Given the description of an element on the screen output the (x, y) to click on. 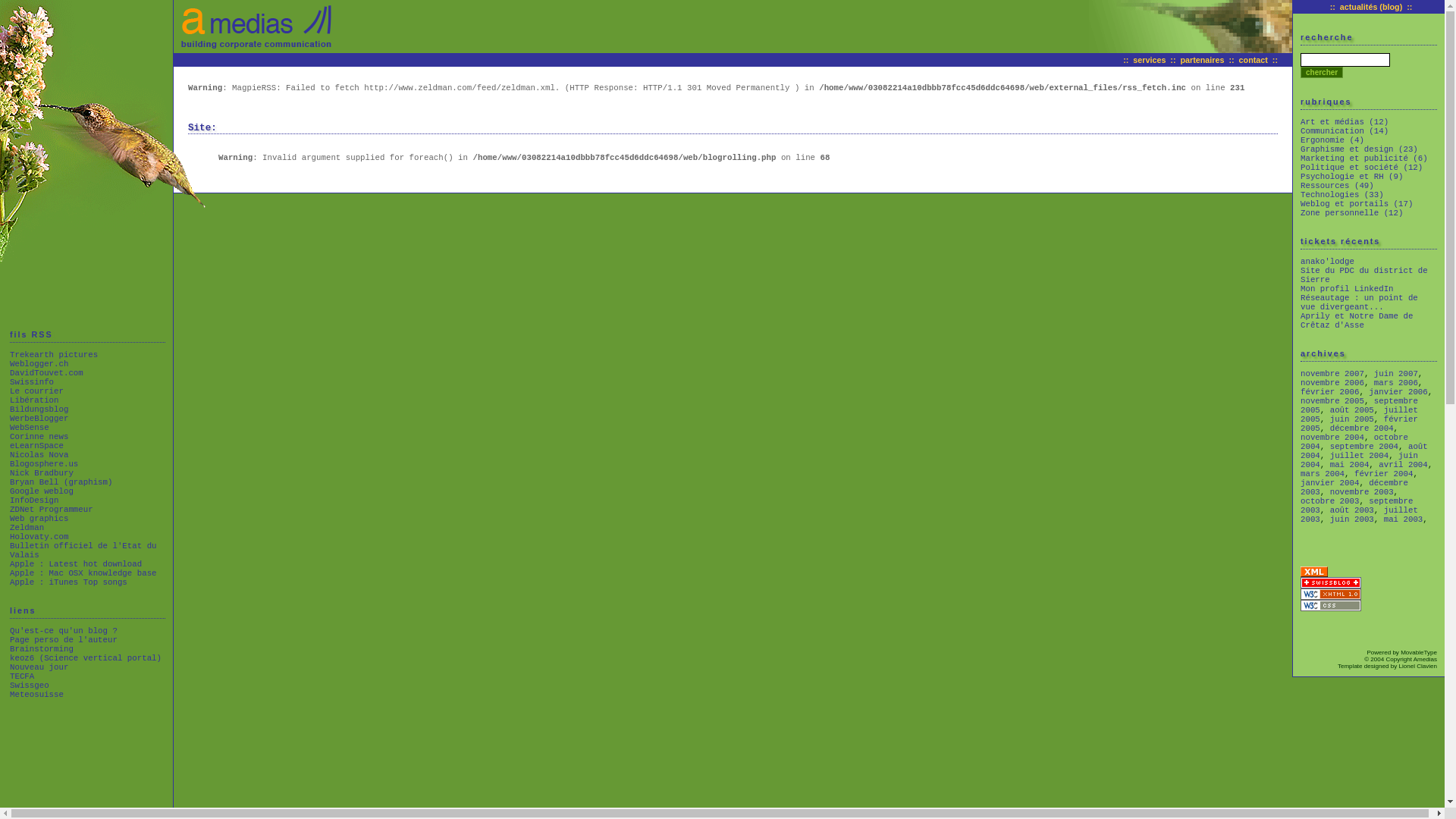
Page perso de l'auteur Element type: text (63, 639)
Nicolas Nova Element type: text (38, 454)
avril 2004 Element type: text (1402, 464)
TECFA Element type: text (21, 675)
mars 2004 Element type: text (1322, 473)
Corinne news Element type: text (38, 436)
Bulletin officiel de l'Etat du Valais Element type: text (82, 550)
chercher Element type: text (1321, 72)
Qu'est-ce qu'un blog ? Element type: text (63, 630)
Ergonomie (4) Element type: text (1332, 139)
juin 2004 Element type: text (1359, 460)
juin 2007 Element type: text (1396, 373)
Graphisme et design (23) Element type: text (1359, 148)
mai 2004 Element type: text (1349, 464)
eLearnSpace Element type: text (36, 445)
Weblog et portails (17) Element type: text (1356, 203)
juin 2005 Element type: text (1352, 418)
novembre 2003 Element type: text (1361, 491)
Nouveau jour Element type: text (38, 666)
ZDNet Programmeur Element type: text (51, 509)
Bildungsblog Element type: text (38, 409)
services Element type: text (1148, 59)
janvier 2006 Element type: text (1397, 391)
Technologies (33) Element type: text (1341, 194)
juillet 2004 Element type: text (1359, 455)
novembre 2006 Element type: text (1332, 382)
keoz6 (Science vertical portal) Element type: text (85, 657)
InfoDesign Element type: text (34, 500)
Mon profil LinkedIn Element type: text (1346, 288)
Zone personnelle (12) Element type: text (1351, 212)
janvier 2004 Element type: text (1329, 482)
octobre 2003 Element type: text (1329, 500)
septembre 2004 Element type: text (1364, 446)
Blogosphere.us Element type: text (43, 463)
contact Element type: text (1253, 59)
mars 2006 Element type: text (1396, 382)
Apple : iTunes Top songs Element type: text (68, 581)
juillet 2005 Element type: text (1359, 414)
Zeldman Element type: text (26, 527)
Bryan Bell (graphism) Element type: text (60, 481)
octobre 2004 Element type: text (1354, 442)
DavidTouvet.com Element type: text (46, 372)
novembre 2004 Element type: text (1332, 437)
WerbeBlogger Element type: text (38, 418)
Meteosuisse Element type: text (36, 694)
Nick Bradbury Element type: text (41, 472)
juin 2003 Element type: text (1352, 519)
Communication (14) Element type: text (1344, 130)
Swissinfo Element type: text (31, 381)
Web graphics Element type: text (38, 518)
Apple : Latest hot download Element type: text (75, 563)
Ressources (49) Element type: text (1337, 185)
juillet 2003 Element type: text (1359, 514)
Weblogger.ch Element type: text (38, 363)
partenaires Element type: text (1202, 59)
septembre 2005 Element type: text (1359, 405)
MovableType Element type: text (1418, 652)
septembre 2003 Element type: text (1356, 505)
Swissgeo Element type: text (29, 685)
Brainstorming Element type: text (41, 648)
Trekearth pictures Element type: text (53, 354)
Apple : Mac OSX knowledge base Element type: text (82, 572)
WebSense Element type: text (29, 427)
Psychologie et RH (9) Element type: text (1351, 176)
Google weblog Element type: text (41, 490)
Holovaty.com Element type: text (38, 536)
Le courrier Element type: text (36, 390)
mai 2003 Element type: text (1403, 519)
novembre 2007 Element type: text (1332, 373)
Site du PDC du district de Sierre Element type: text (1363, 275)
anako'lodge Element type: text (1327, 261)
novembre 2005 Element type: text (1332, 400)
